Given the description of an element on the screen output the (x, y) to click on. 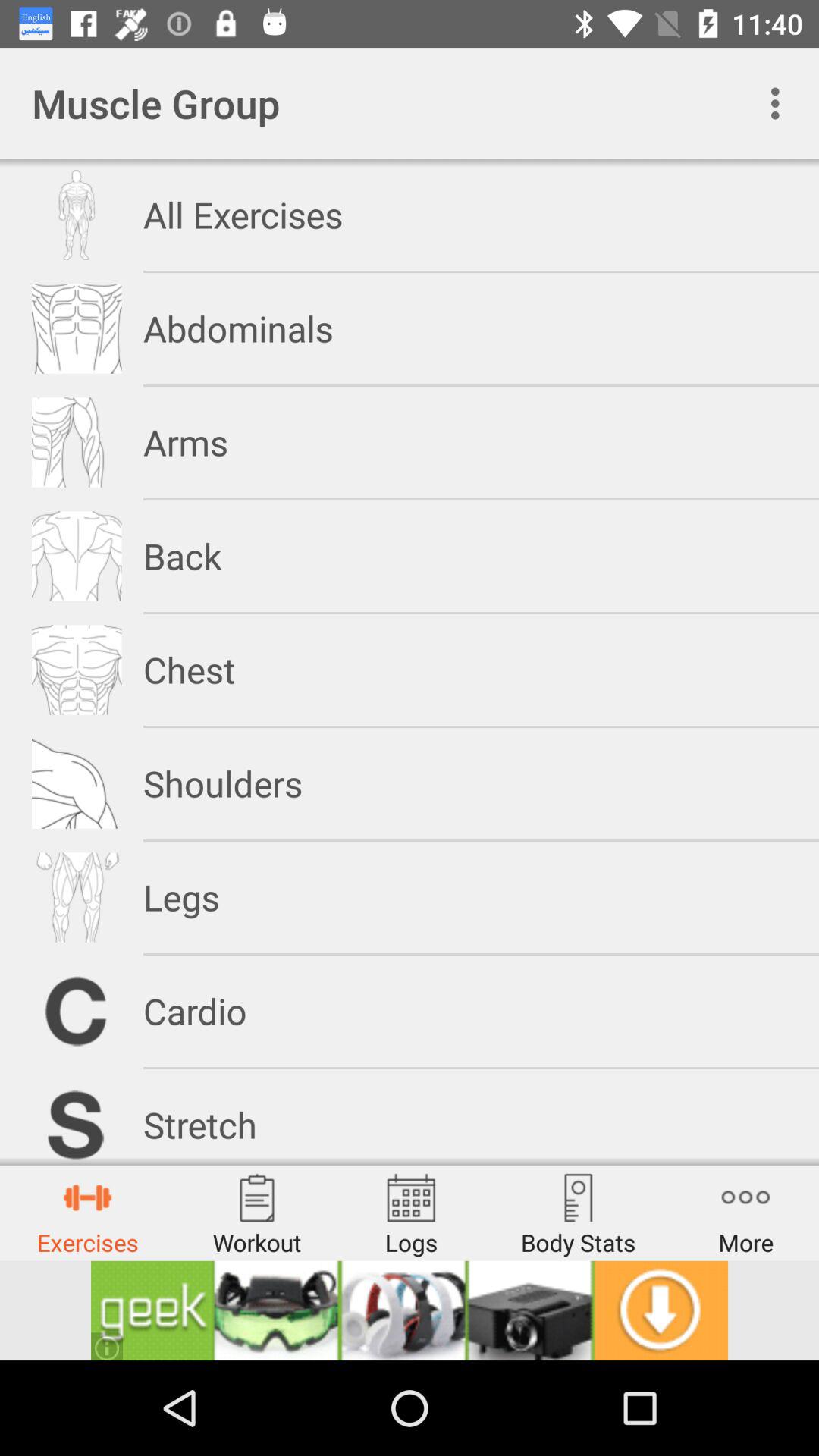
toggle an advertisements (409, 1310)
